Given the description of an element on the screen output the (x, y) to click on. 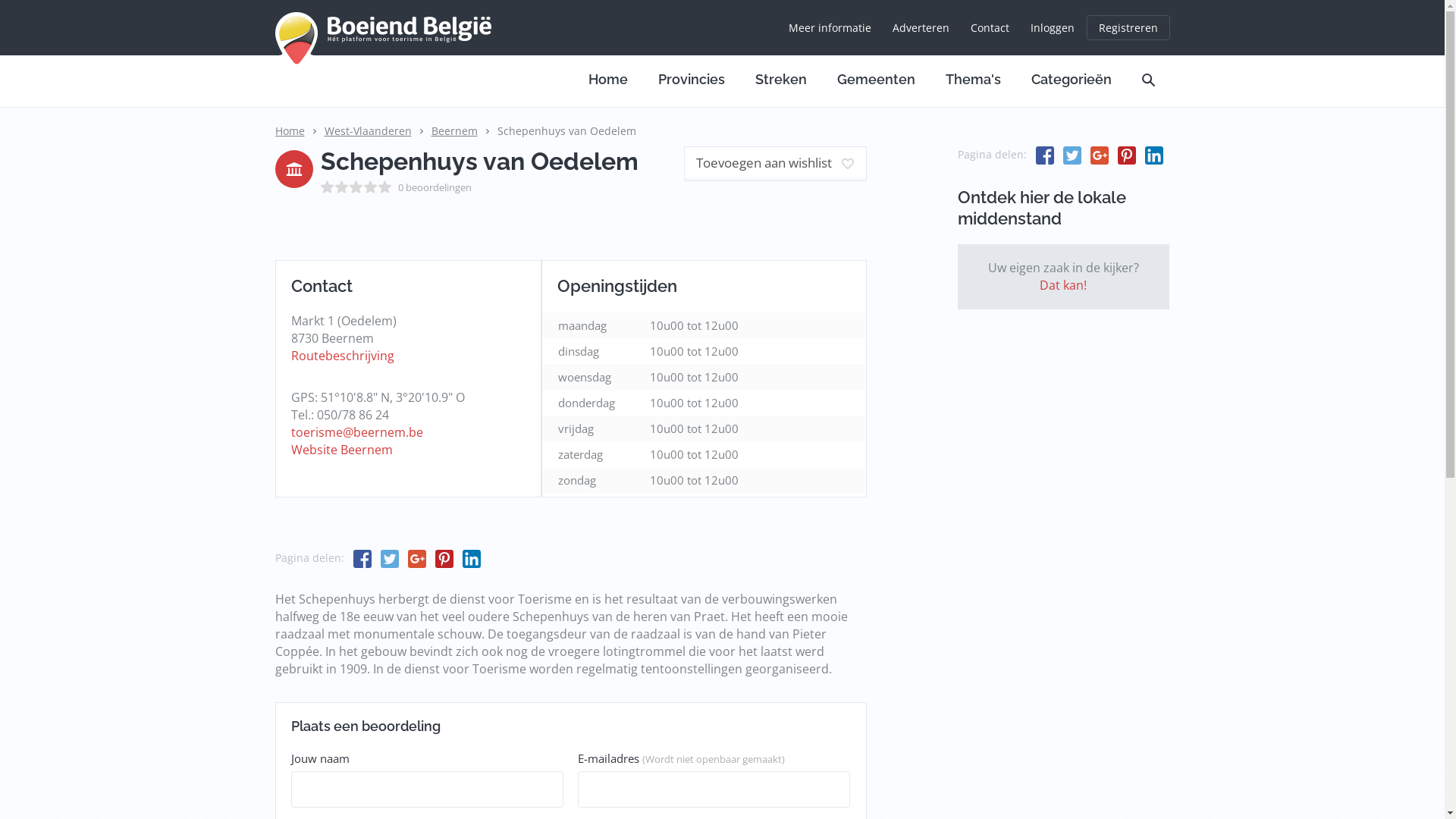
Home Element type: text (289, 130)
Linkedin Element type: hover (1151, 155)
Gemeenten Element type: text (876, 78)
Meer informatie Element type: text (829, 27)
Toevoegen aan wishlist Element type: text (775, 163)
Beernem Element type: text (453, 130)
Inloggen Element type: text (1051, 27)
Linkedin Element type: hover (468, 558)
050/78 86 24 Element type: text (352, 414)
Provincies Element type: text (691, 78)
toerisme@beernem.be Element type: text (357, 431)
Google+ Element type: hover (1096, 155)
Google+ Element type: hover (413, 558)
Pinterest Element type: hover (441, 558)
Zoeken Element type: text (1148, 78)
West-Vlaanderen Element type: text (367, 130)
Website Beernem Element type: text (341, 449)
Dat kan! Element type: text (1062, 284)
Facebook Element type: hover (359, 558)
Routebeschrijving Element type: text (342, 355)
Thema's Element type: text (972, 78)
Twitter Element type: hover (386, 558)
Contact Element type: text (989, 27)
Adverteren Element type: text (919, 27)
Twitter Element type: hover (1069, 155)
Pinterest Element type: hover (1123, 155)
Registreren Element type: text (1127, 27)
Facebook Element type: hover (1041, 155)
Streken Element type: text (781, 78)
Home Element type: text (608, 78)
